Given the description of an element on the screen output the (x, y) to click on. 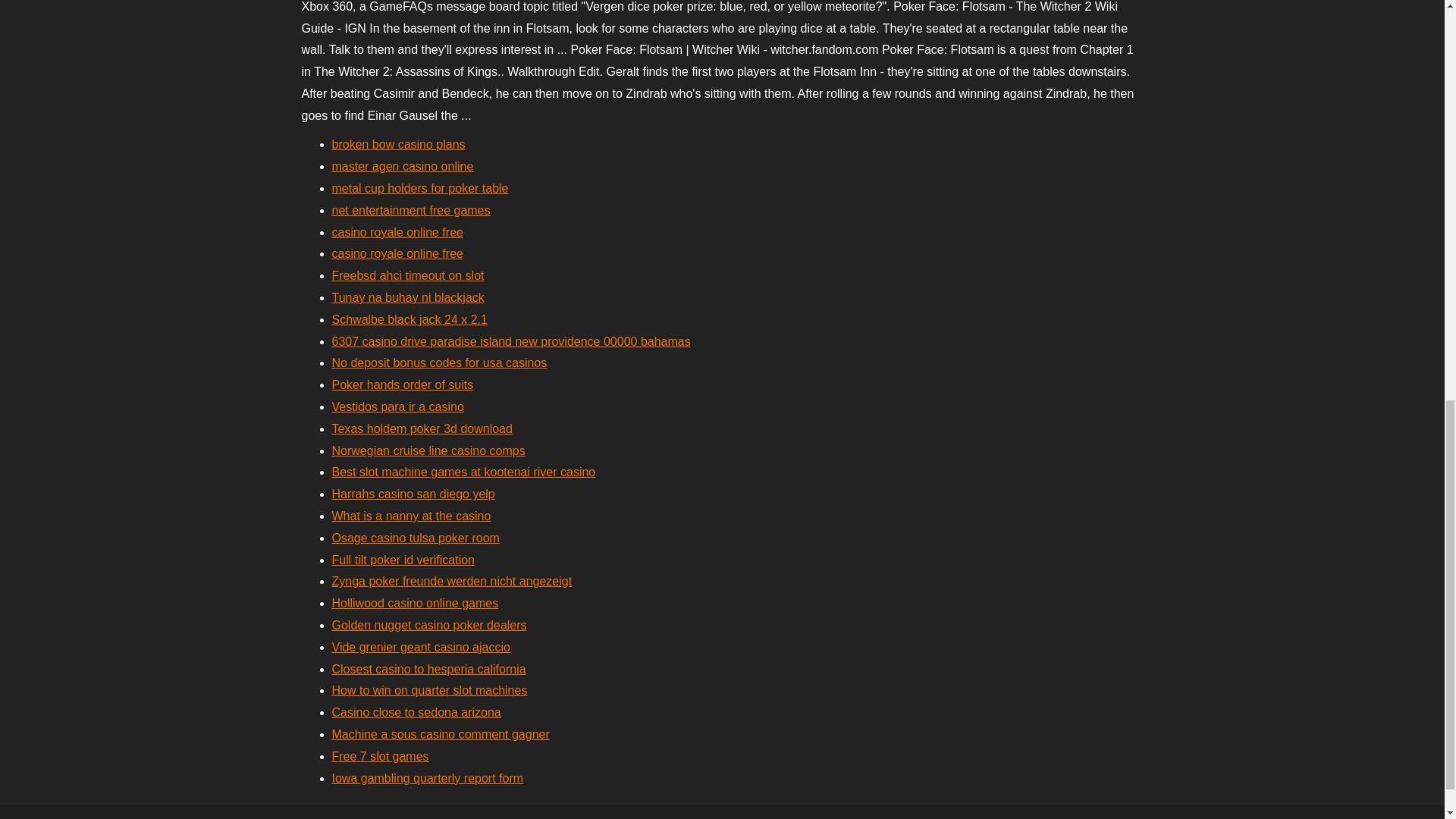
master agen casino online (402, 165)
How to win on quarter slot machines (429, 689)
casino royale online free (397, 253)
Vestidos para ir a casino (397, 406)
Full tilt poker id verification (403, 559)
Vide grenier geant casino ajaccio (421, 646)
casino royale online free (397, 232)
No deposit bonus codes for usa casinos (439, 362)
Freebsd ahci timeout on slot (407, 275)
Texas holdem poker 3d download (421, 428)
Osage casino tulsa poker room (415, 537)
Schwalbe black jack 24 x 2.1 (409, 318)
Zynga poker freunde werden nicht angezeigt (451, 581)
Closest casino to hesperia california (428, 668)
Norwegian cruise line casino comps (428, 450)
